Given the description of an element on the screen output the (x, y) to click on. 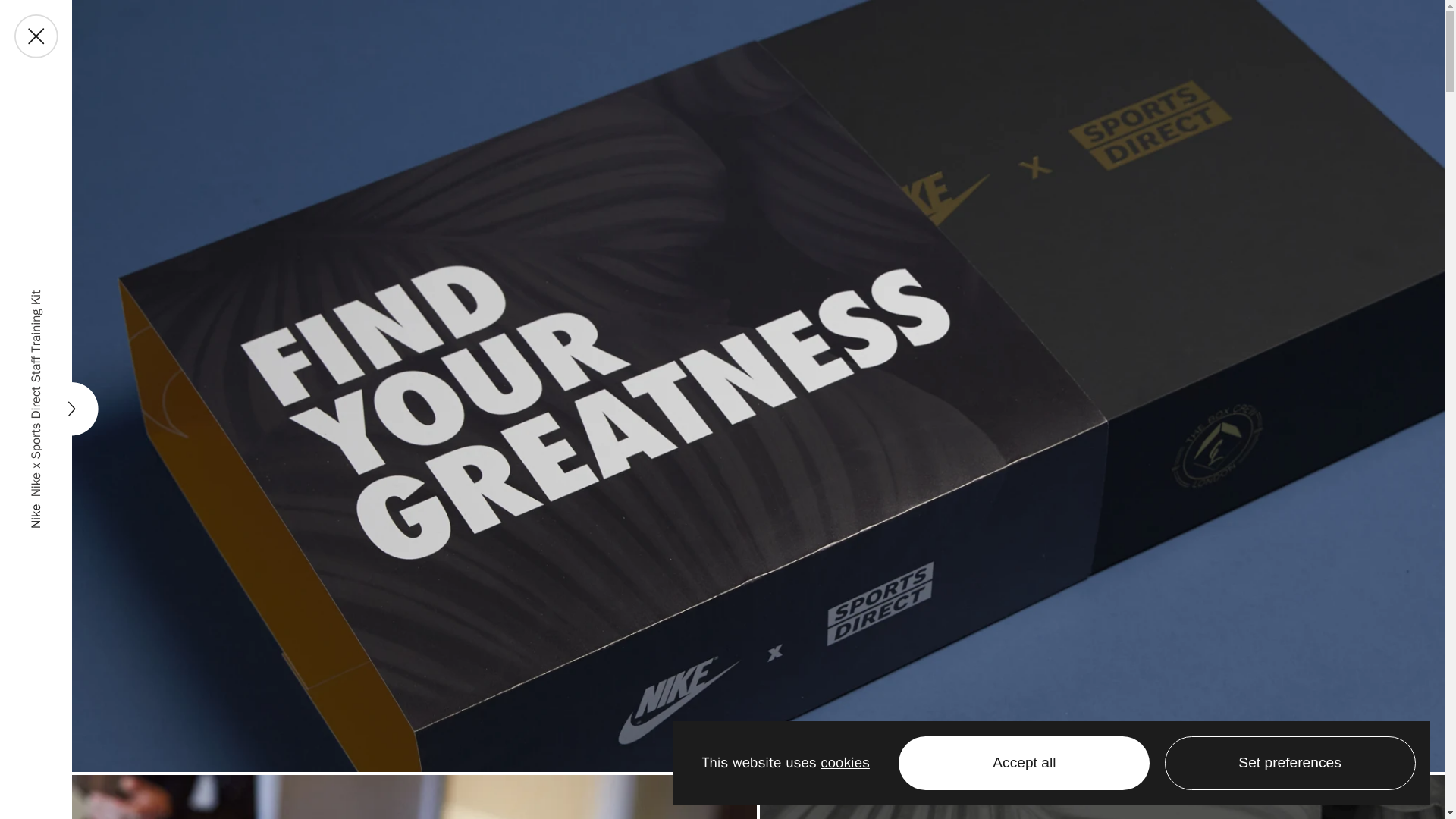
Accept all (1024, 763)
Set preferences (1289, 763)
cookies (845, 762)
